Given the description of an element on the screen output the (x, y) to click on. 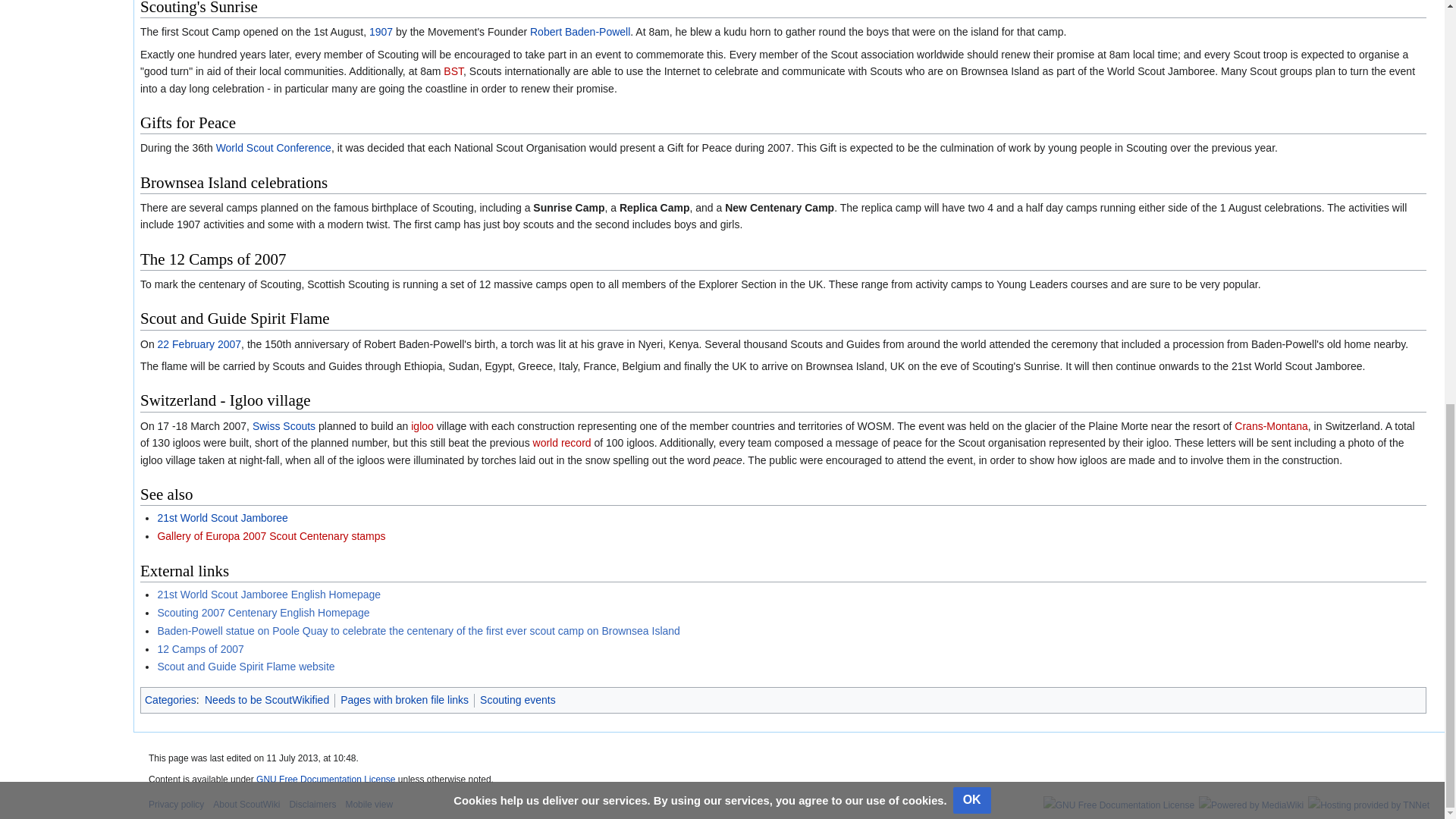
1907 (381, 31)
Robert Baden-Powell (579, 31)
Robert Baden-Powell (579, 31)
World Scout Conference (273, 147)
Crans-Montana (1270, 426)
igloo (421, 426)
1907 (381, 31)
Swiss Scouts (283, 426)
2007 (228, 344)
BST (453, 70)
